Given the description of an element on the screen output the (x, y) to click on. 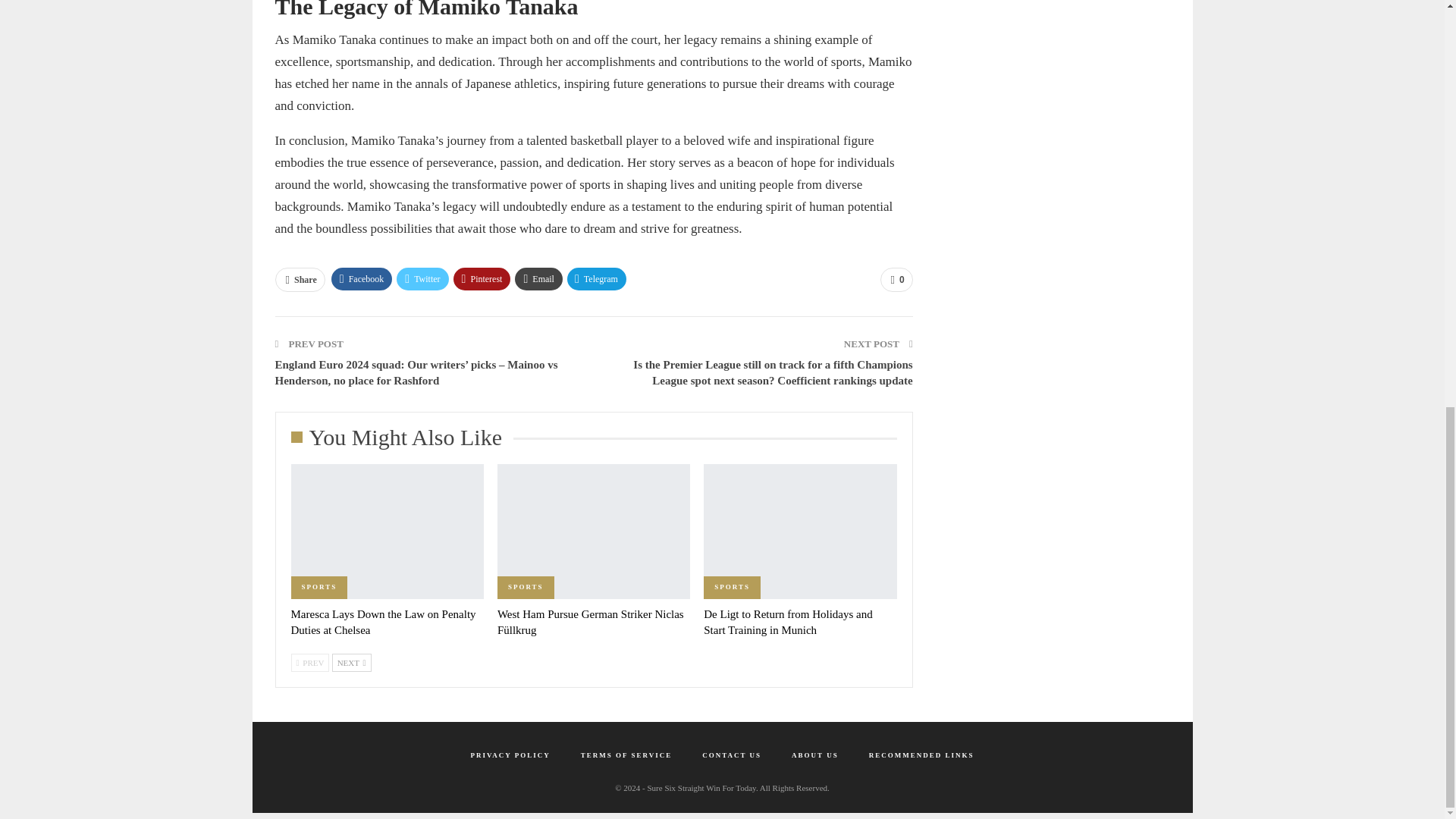
De Ligt to Return from Holidays and Start Training in Munich (787, 622)
Twitter (422, 278)
Email (538, 278)
NEXT (351, 662)
Maresca Lays Down the Law on Penalty Duties at Chelsea (383, 622)
Maresca Lays Down the Law on Penalty Duties at Chelsea (383, 622)
SPORTS (731, 587)
PREV (310, 662)
0 (896, 279)
